Given the description of an element on the screen output the (x, y) to click on. 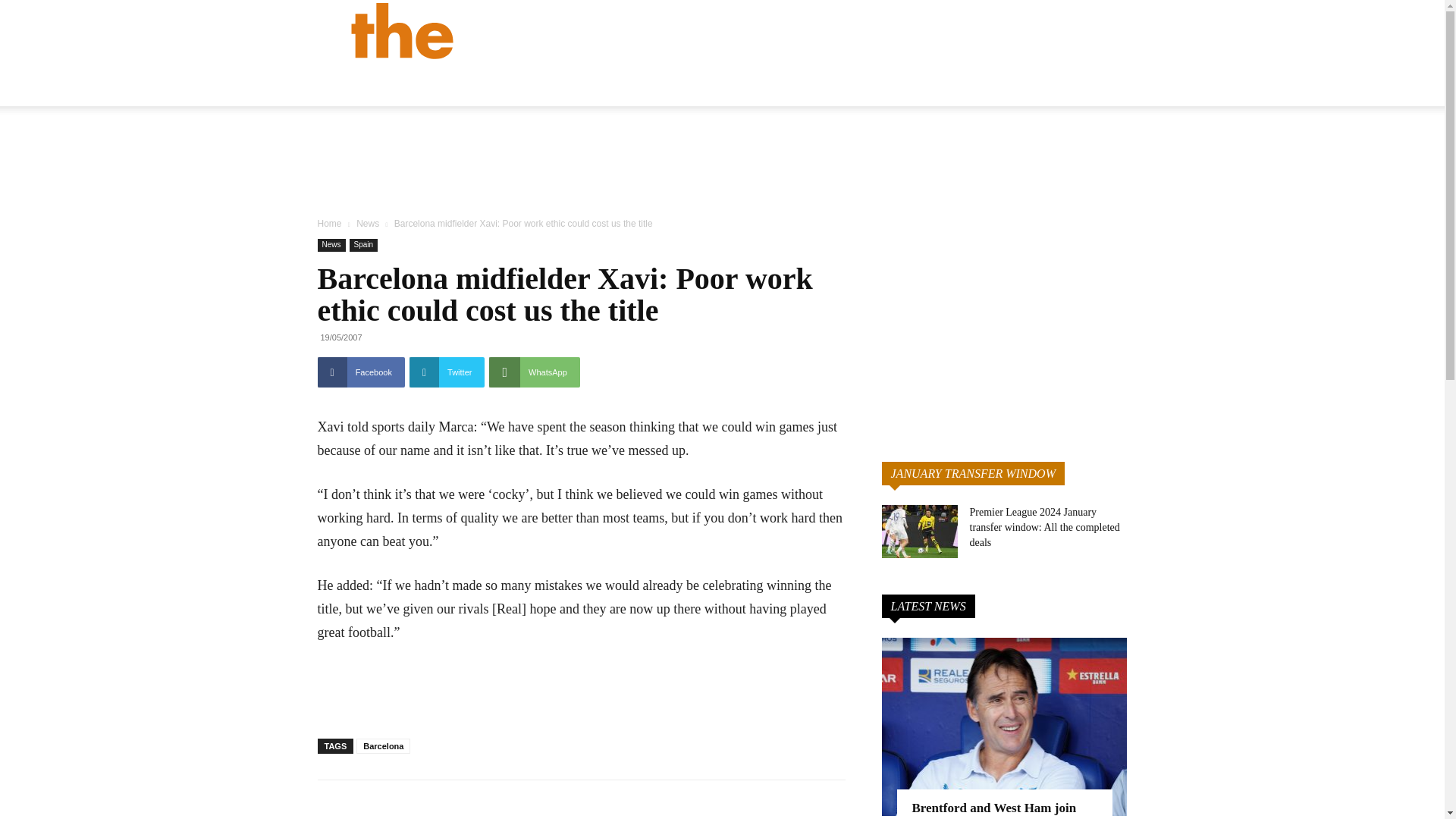
Facebook (360, 372)
WhatsApp (534, 372)
bottomFacebookLike (430, 804)
Spain (363, 245)
WhatsApp (534, 372)
Facebook (360, 372)
Home (328, 223)
Search (1134, 102)
OPINION (822, 86)
Twitter (446, 372)
View all posts in News (367, 223)
News (367, 223)
BETTING (982, 86)
Ontheminute.com (550, 30)
Twitter (446, 372)
